Given the description of an element on the screen output the (x, y) to click on. 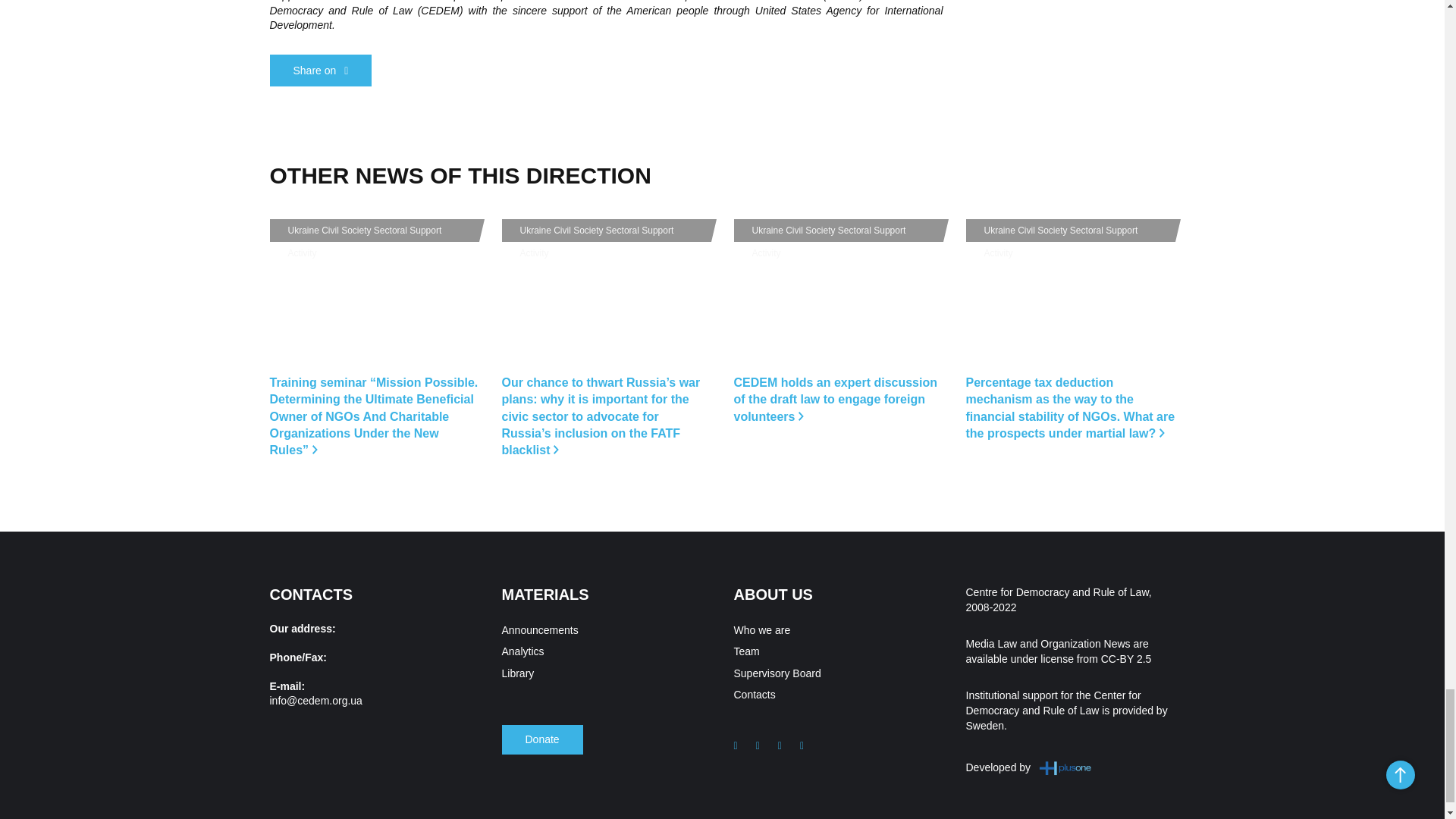
Facebook share (320, 70)
